Given the description of an element on the screen output the (x, y) to click on. 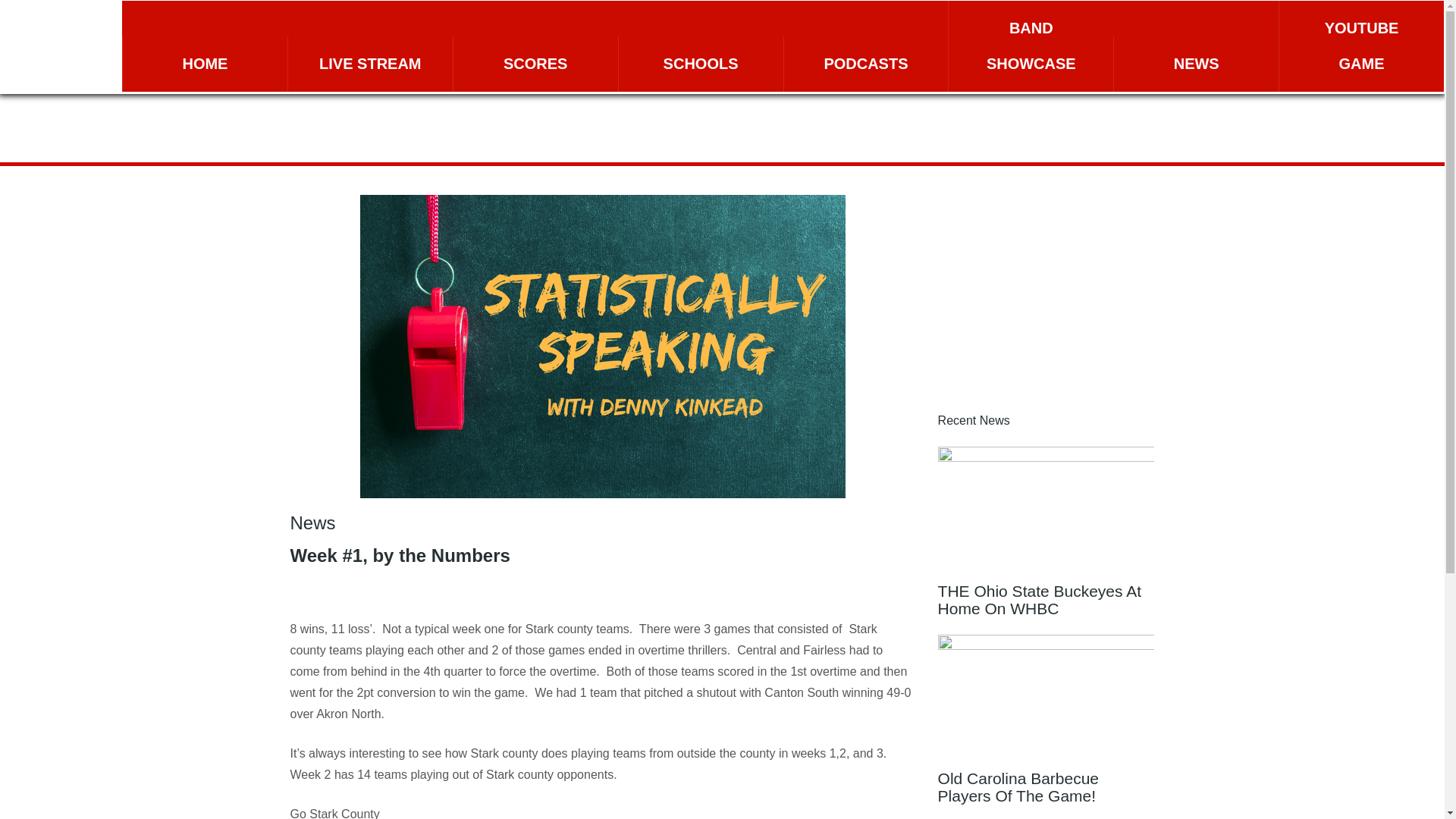
NEWS (1195, 63)
THE Ohio State Buckeyes At Home On WHBC (1045, 535)
BAND SHOWCASE (1031, 45)
LIVE STREAM (370, 63)
YOUTUBE GAME (1361, 45)
HOME (204, 63)
Old Carolina Barbecue Players Of The Game! (1045, 723)
PODCASTS (866, 63)
SCORES (534, 63)
News (311, 522)
